Given the description of an element on the screen output the (x, y) to click on. 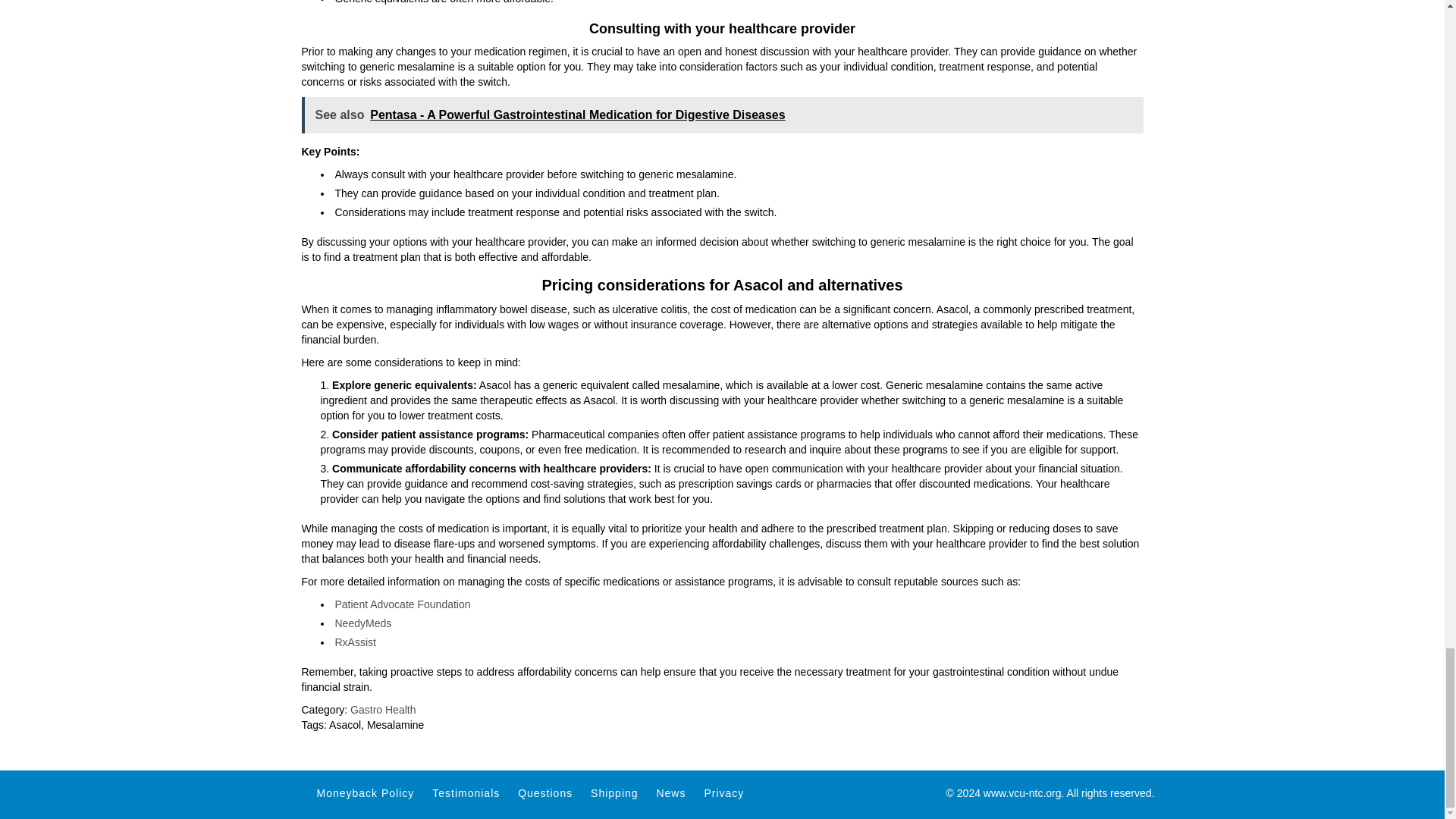
Testimonials (465, 792)
Privacy (723, 792)
Questions (545, 792)
Moneyback Policy (365, 792)
RxAssist (354, 641)
Shipping (614, 792)
NeedyMeds (362, 623)
Gastro Health (382, 709)
Patient Advocate Foundation (402, 603)
News (670, 792)
